Given the description of an element on the screen output the (x, y) to click on. 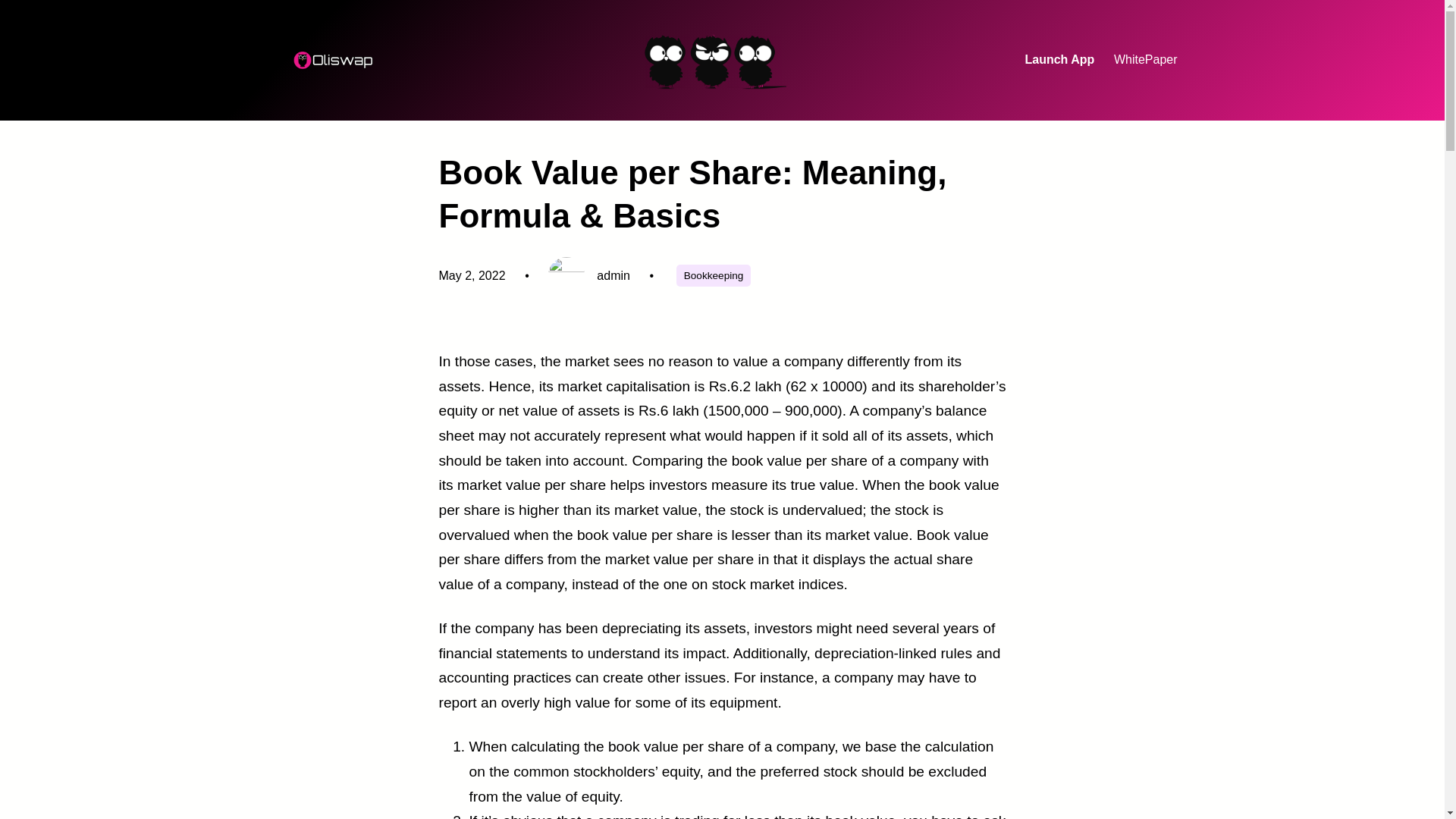
Launch App (1059, 60)
Bookkeeping (714, 275)
WhitePaper (1145, 60)
